Given the description of an element on the screen output the (x, y) to click on. 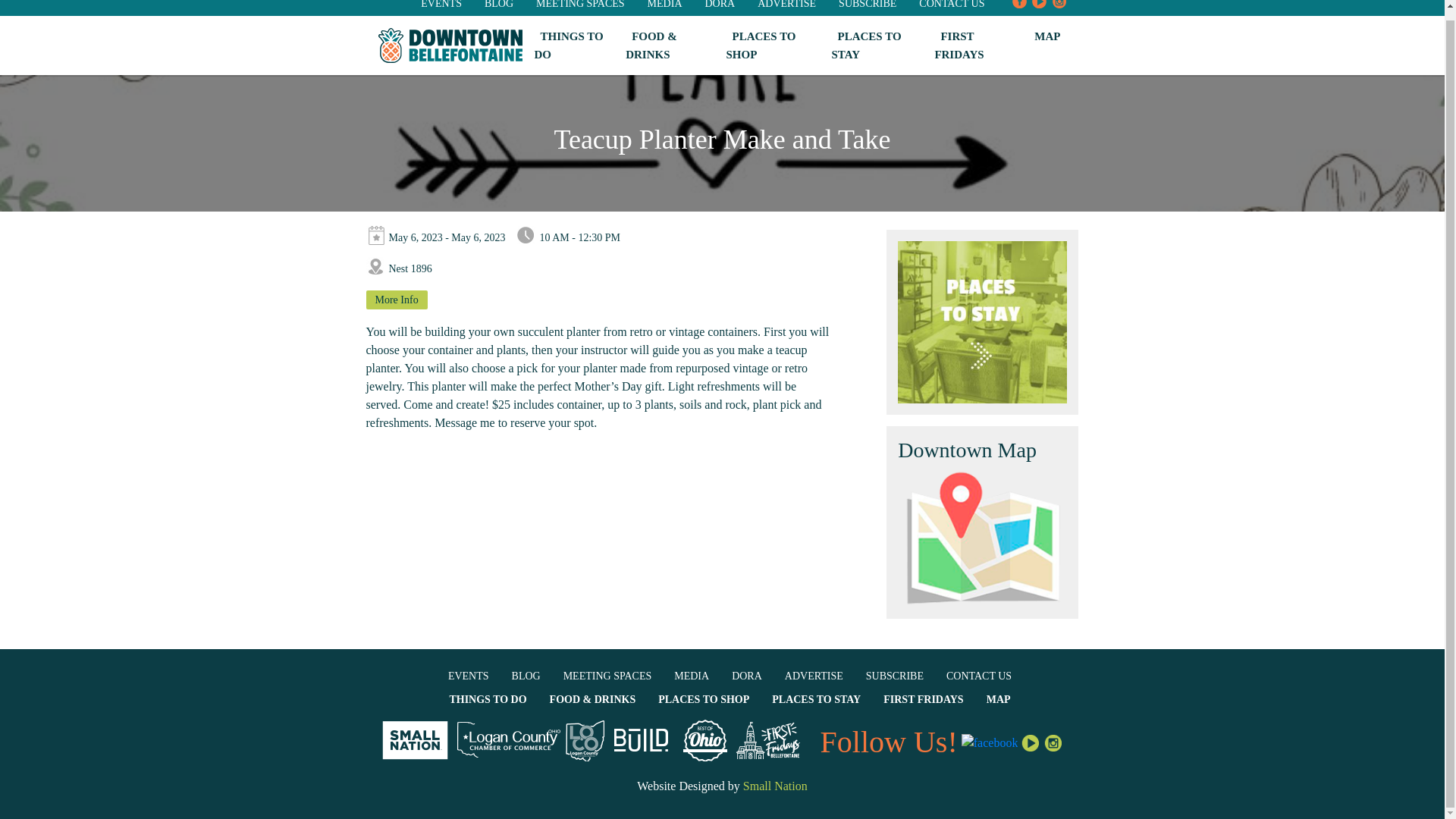
MEETING SPACES (579, 4)
Downtown Bellefontaine Home Page (449, 45)
More Info (395, 299)
EVENTS (440, 4)
DORA (719, 4)
MAP (1046, 36)
CONTACT US (951, 4)
SUBSCRIBE (867, 4)
MEDIA (664, 4)
EVENTS (468, 675)
PLACES TO STAY (866, 45)
BLOG (526, 675)
FIRST FRIDAYS (962, 45)
BLOG (498, 4)
PLACES TO SHOP (759, 45)
